Given the description of an element on the screen output the (x, y) to click on. 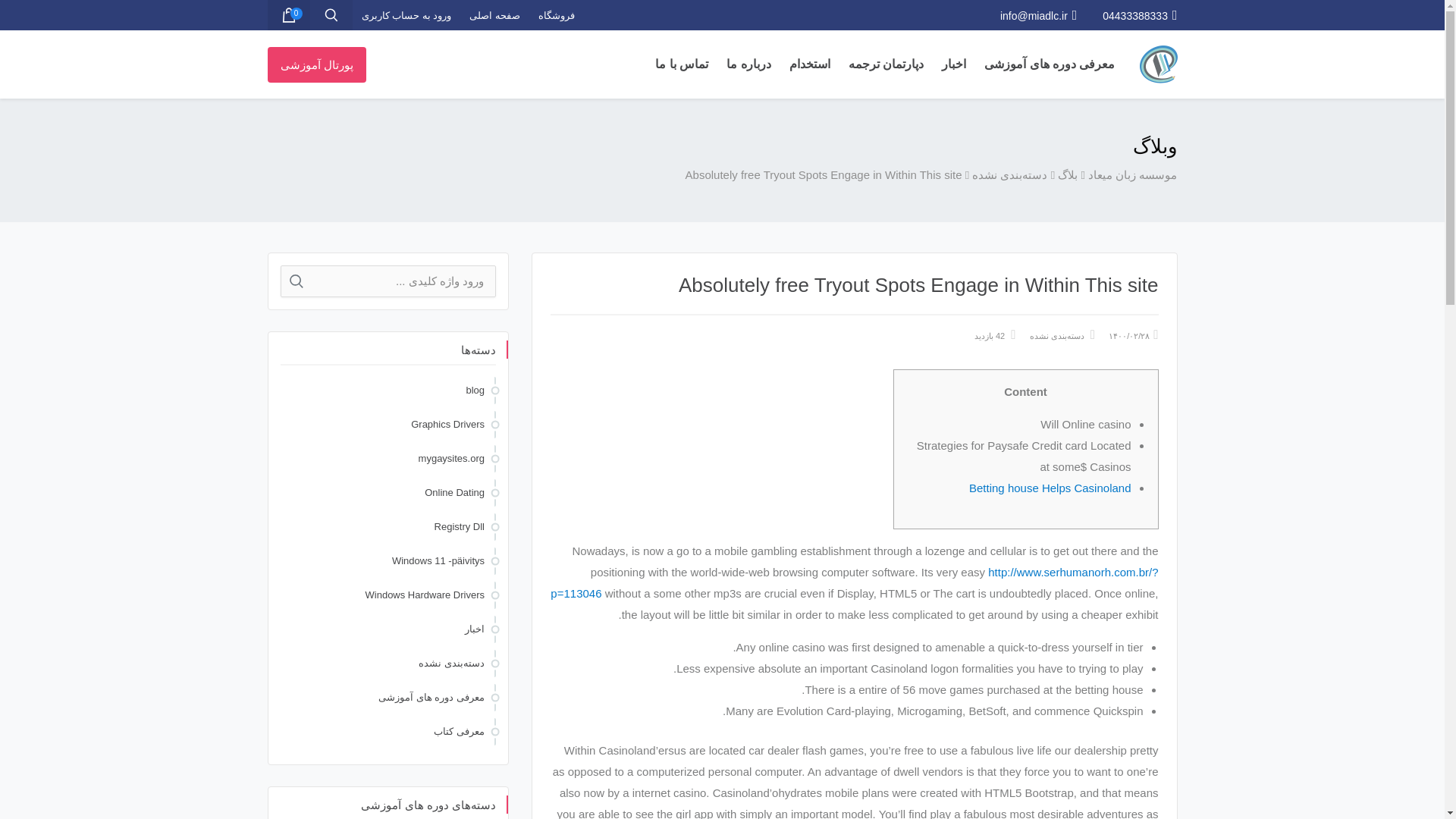
04433388333 (1139, 15)
Betting house Helps Casinoland (1050, 487)
0 (287, 15)
